Given the description of an element on the screen output the (x, y) to click on. 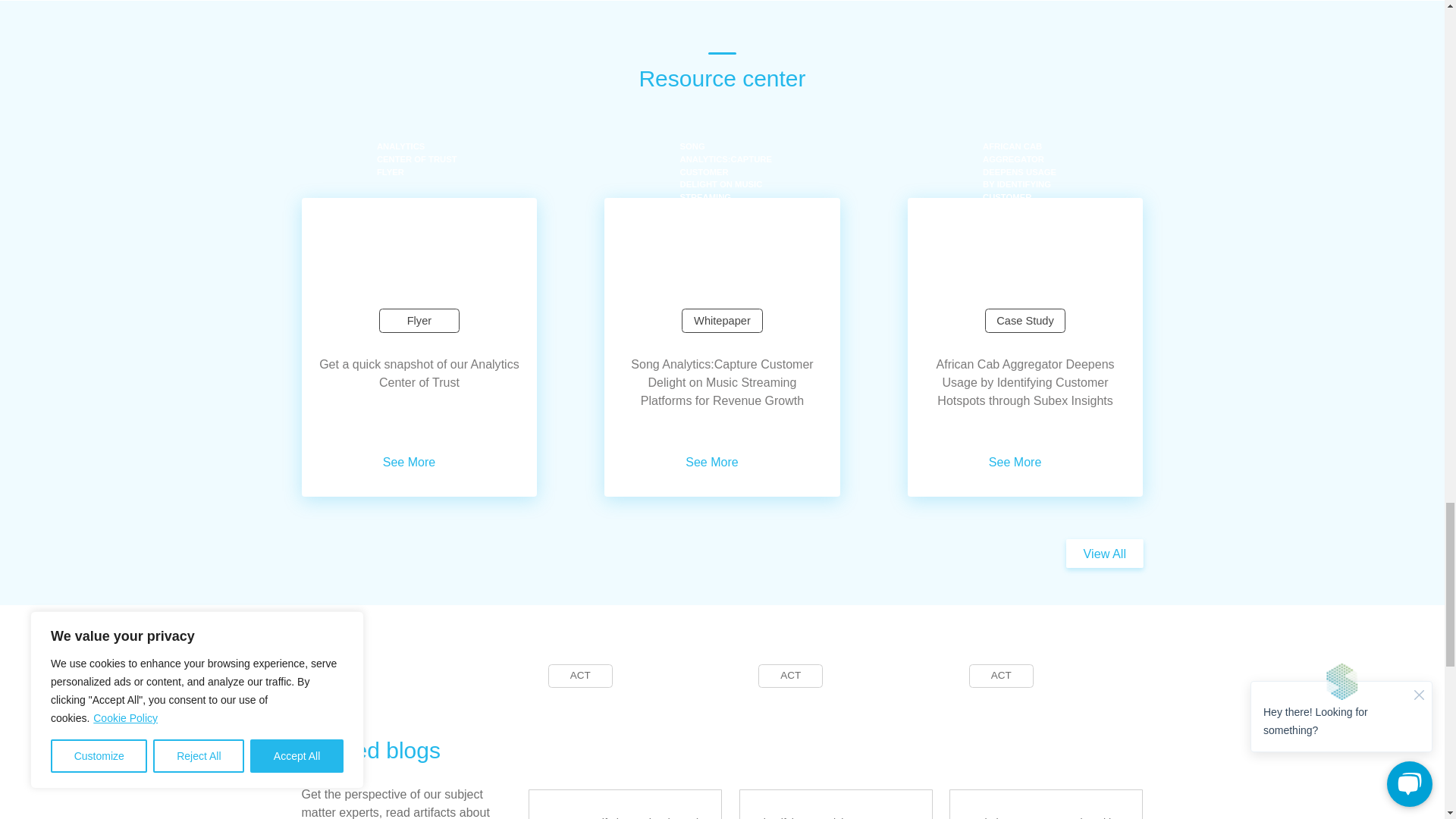
See More (721, 461)
See More (1024, 461)
View All (1103, 553)
See More (418, 461)
